Given the description of an element on the screen output the (x, y) to click on. 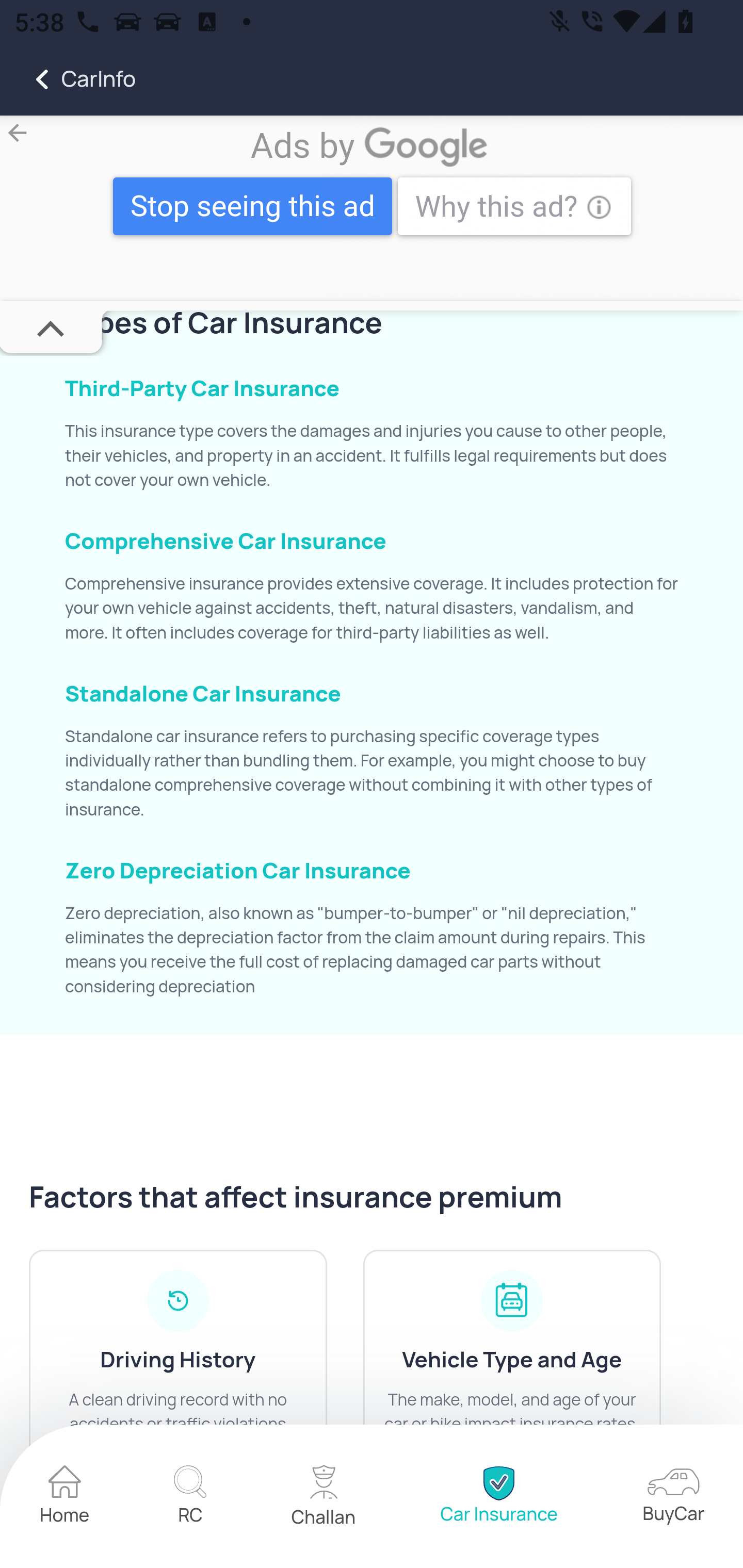
CarInfo (67, 79)
VISIT SITE (371, 209)
home Home home Home (64, 1497)
home RC home RC (190, 1497)
home Challan home Challan (323, 1497)
home Car Insurance home Car Insurance (497, 1497)
home BuyCar home BuyCar (672, 1497)
